Given the description of an element on the screen output the (x, y) to click on. 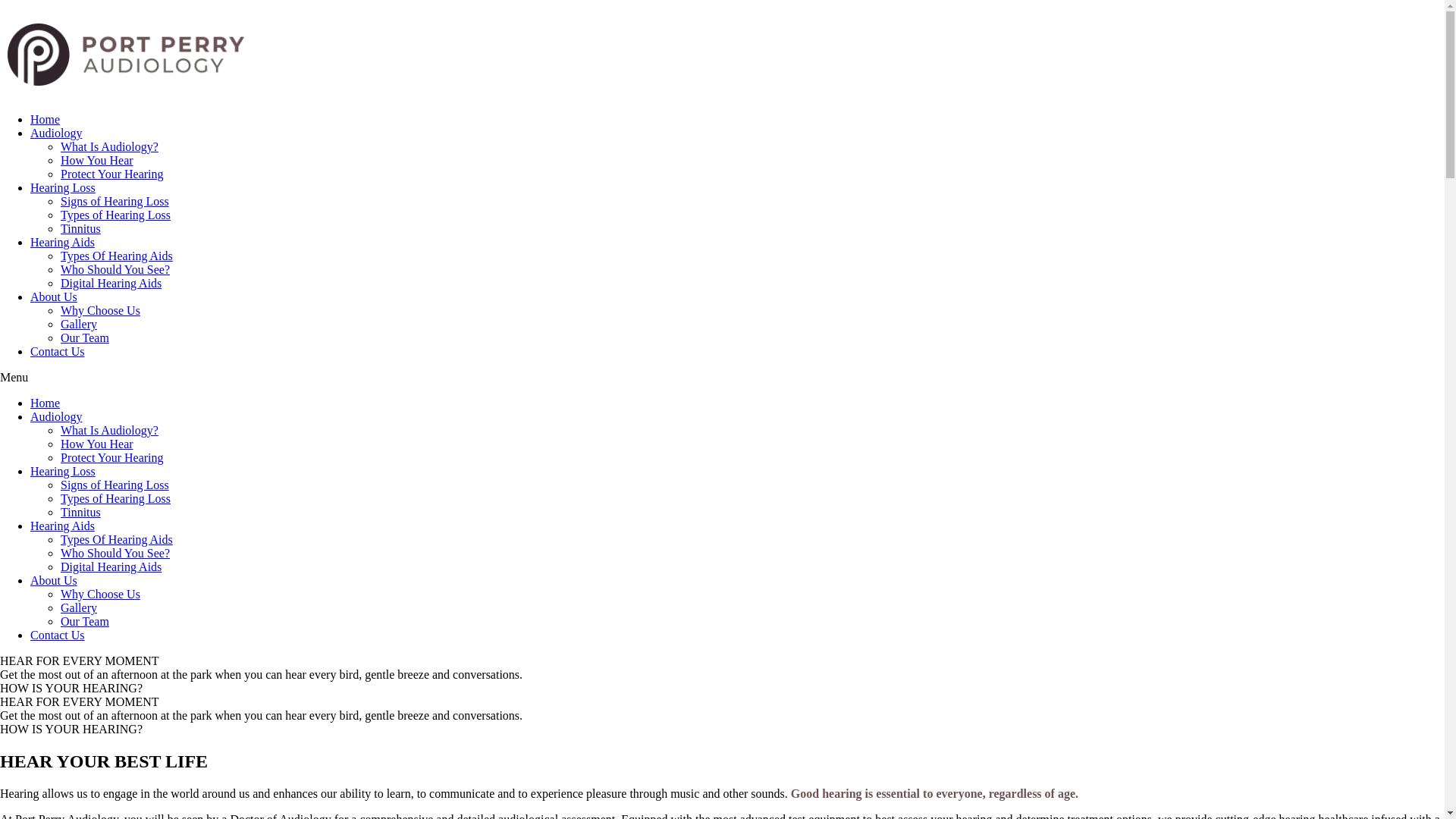
How You Hear Element type: text (96, 159)
Types Of Hearing Aids Element type: text (116, 255)
Gallery Element type: text (78, 323)
Audiology Element type: text (55, 416)
Protect Your Hearing Element type: text (111, 173)
Why Choose Us Element type: text (100, 593)
Gallery Element type: text (78, 607)
Protect Your Hearing Element type: text (111, 457)
Digital Hearing Aids Element type: text (110, 566)
Signs of Hearing Loss Element type: text (114, 200)
Hearing Aids Element type: text (62, 241)
Hearing Aids Element type: text (62, 525)
Our Team Element type: text (84, 337)
Tinnitus Element type: text (80, 511)
Types Of Hearing Aids Element type: text (116, 539)
Who Should You See? Element type: text (114, 269)
Hearing Loss Element type: text (62, 187)
About Us Element type: text (53, 580)
Audiology Element type: text (55, 132)
Types of Hearing Loss Element type: text (115, 214)
Tinnitus Element type: text (80, 228)
Types of Hearing Loss Element type: text (115, 498)
Contact Us Element type: text (57, 351)
About Us Element type: text (53, 296)
Home Element type: text (44, 402)
Our Team Element type: text (84, 621)
Signs of Hearing Loss Element type: text (114, 484)
How You Hear Element type: text (96, 443)
Home Element type: text (44, 118)
Digital Hearing Aids Element type: text (110, 282)
What Is Audiology? Element type: text (109, 146)
Contact Us Element type: text (57, 634)
What Is Audiology? Element type: text (109, 429)
Hearing Loss Element type: text (62, 470)
Who Should You See? Element type: text (114, 552)
Why Choose Us Element type: text (100, 310)
